Given the description of an element on the screen output the (x, y) to click on. 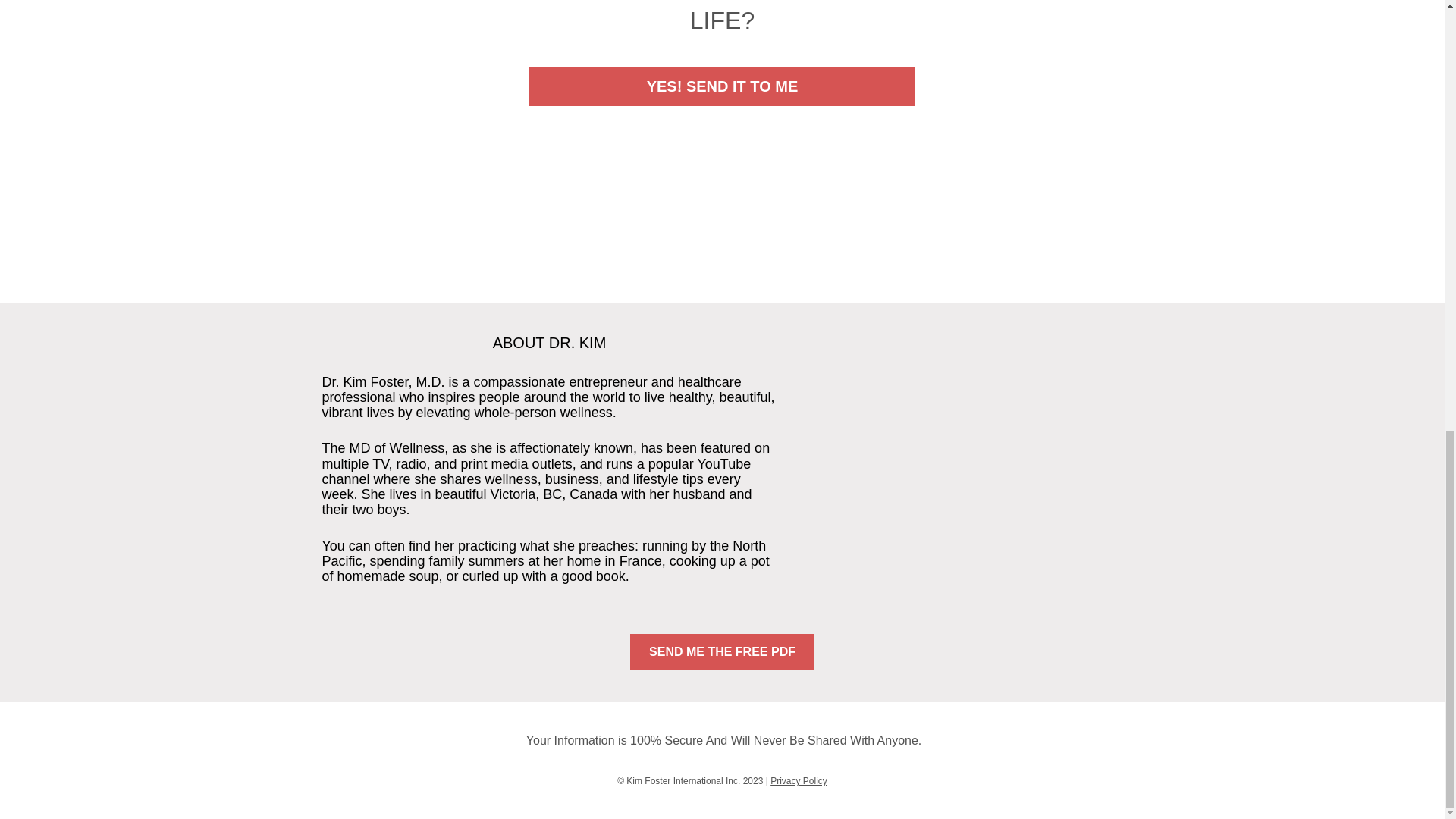
Privacy Policy (798, 780)
YES! SEND IT TO ME (722, 86)
SEND ME THE FREE PDF (721, 651)
